Given the description of an element on the screen output the (x, y) to click on. 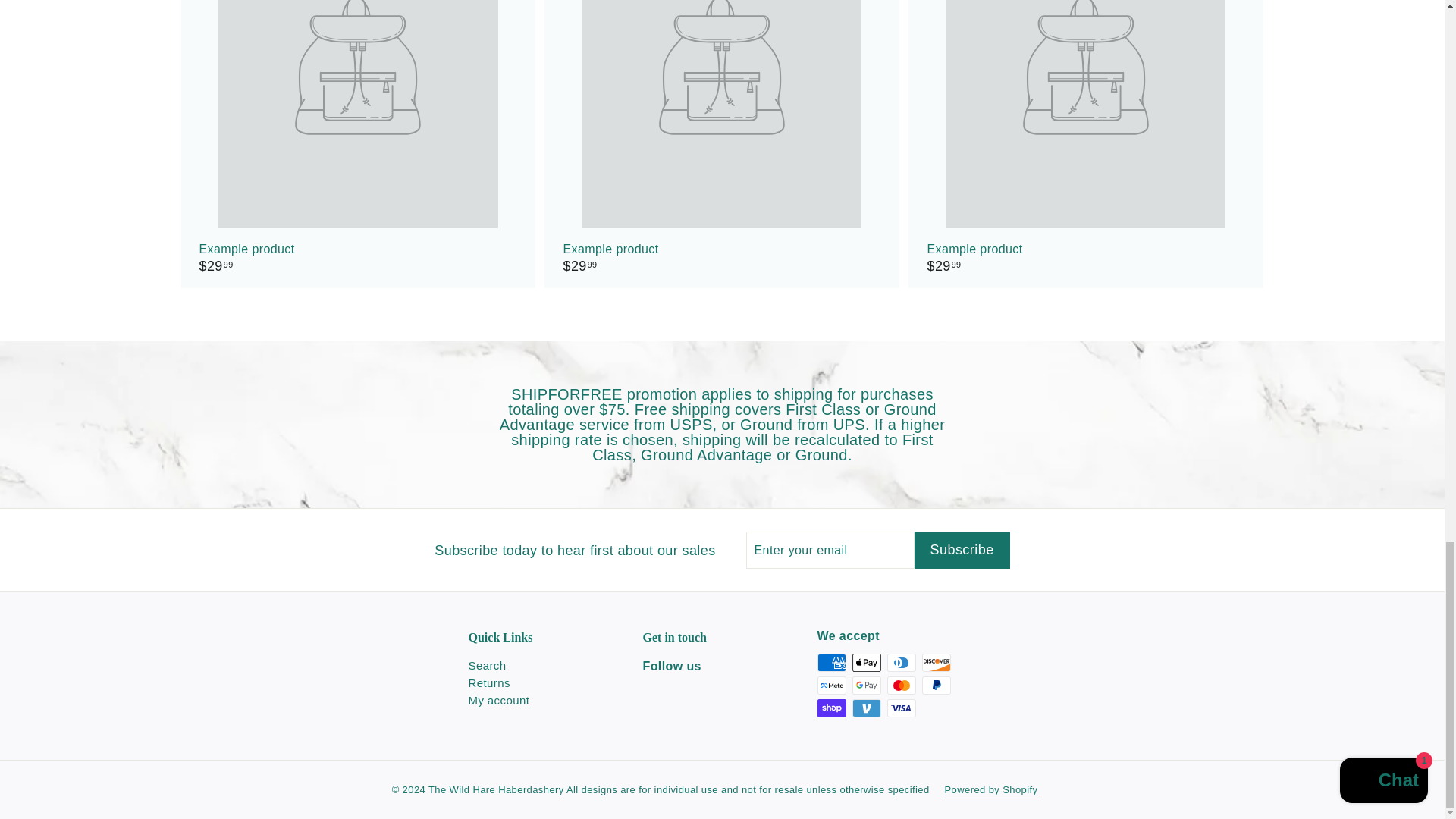
Google Pay (865, 685)
Venmo (865, 708)
Visa (900, 708)
Discover (935, 662)
Apple Pay (865, 662)
Meta Pay (830, 685)
American Express (830, 662)
Shop Pay (830, 708)
PayPal (935, 685)
Mastercard (900, 685)
Diners Club (900, 662)
